Given the description of an element on the screen output the (x, y) to click on. 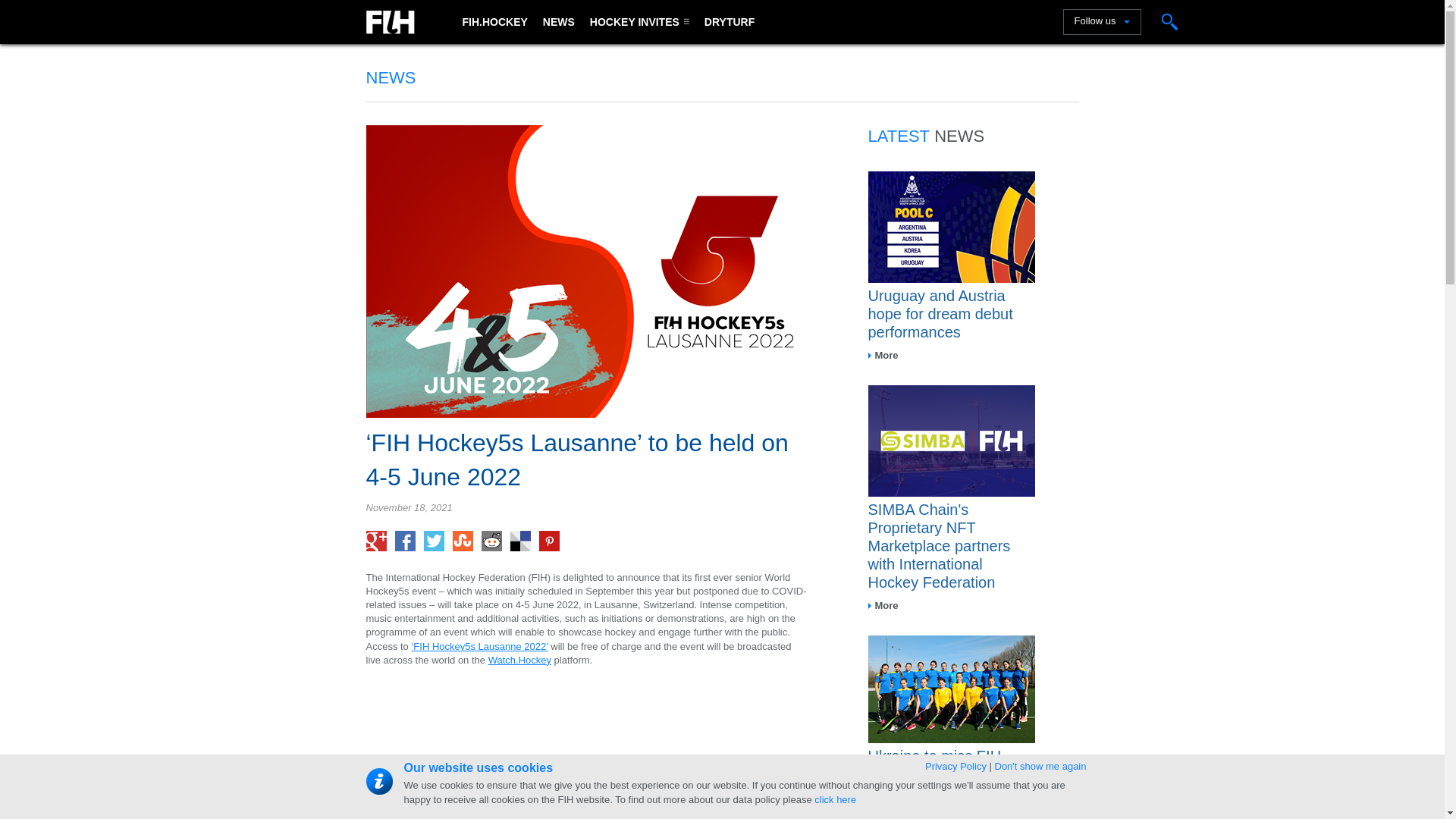
Search (1169, 22)
NEWS (558, 22)
Watch.Hockey (519, 659)
HOCKEY INVITES (639, 22)
FIH.HOCKEY (494, 22)
Follow us (1101, 22)
DRYTURF (729, 22)
